Given the description of an element on the screen output the (x, y) to click on. 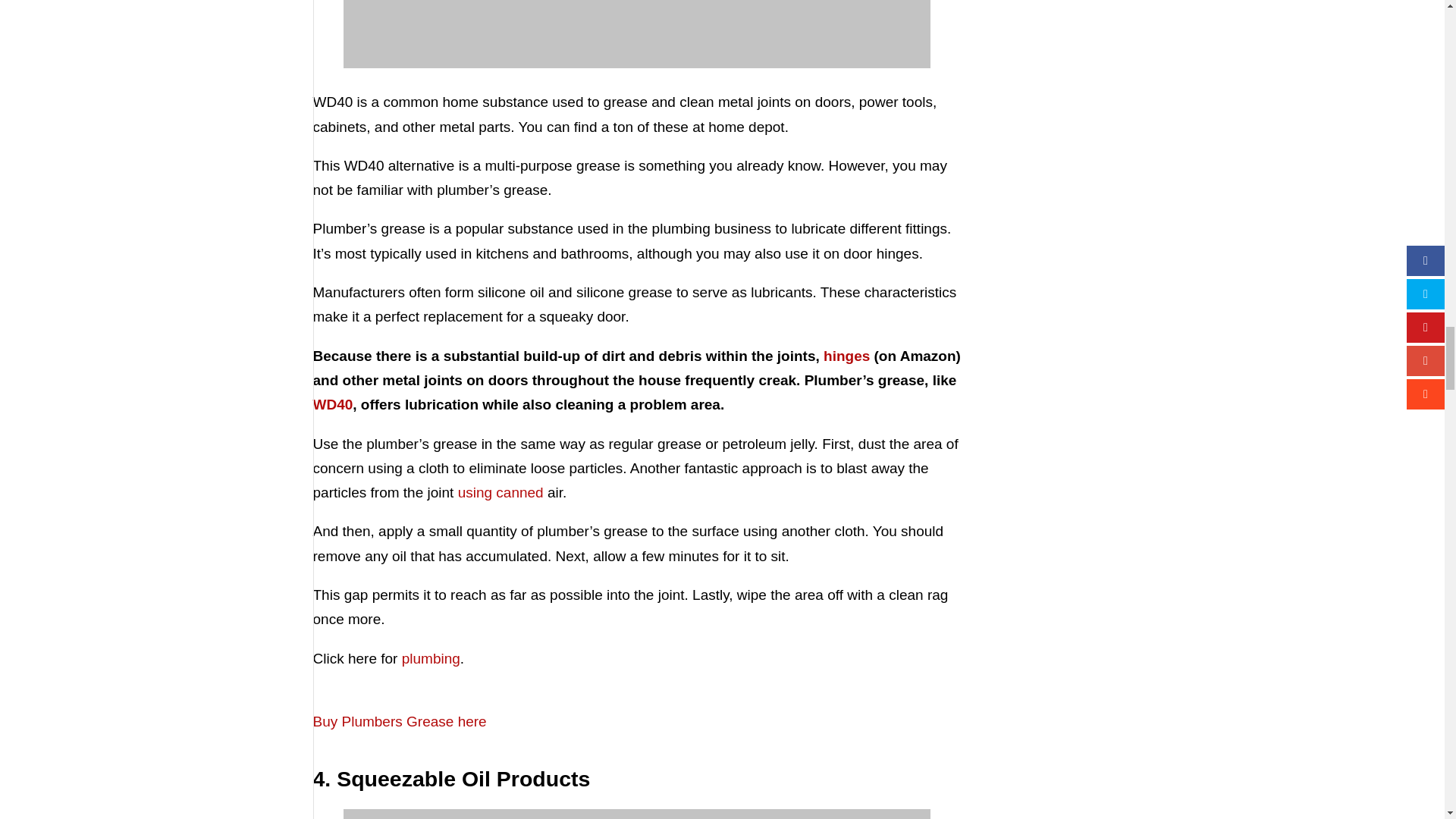
plumbing (430, 658)
hinges (849, 355)
Buy Plumbers Grease here (399, 733)
WD40 (332, 404)
using canned (502, 492)
